Given the description of an element on the screen output the (x, y) to click on. 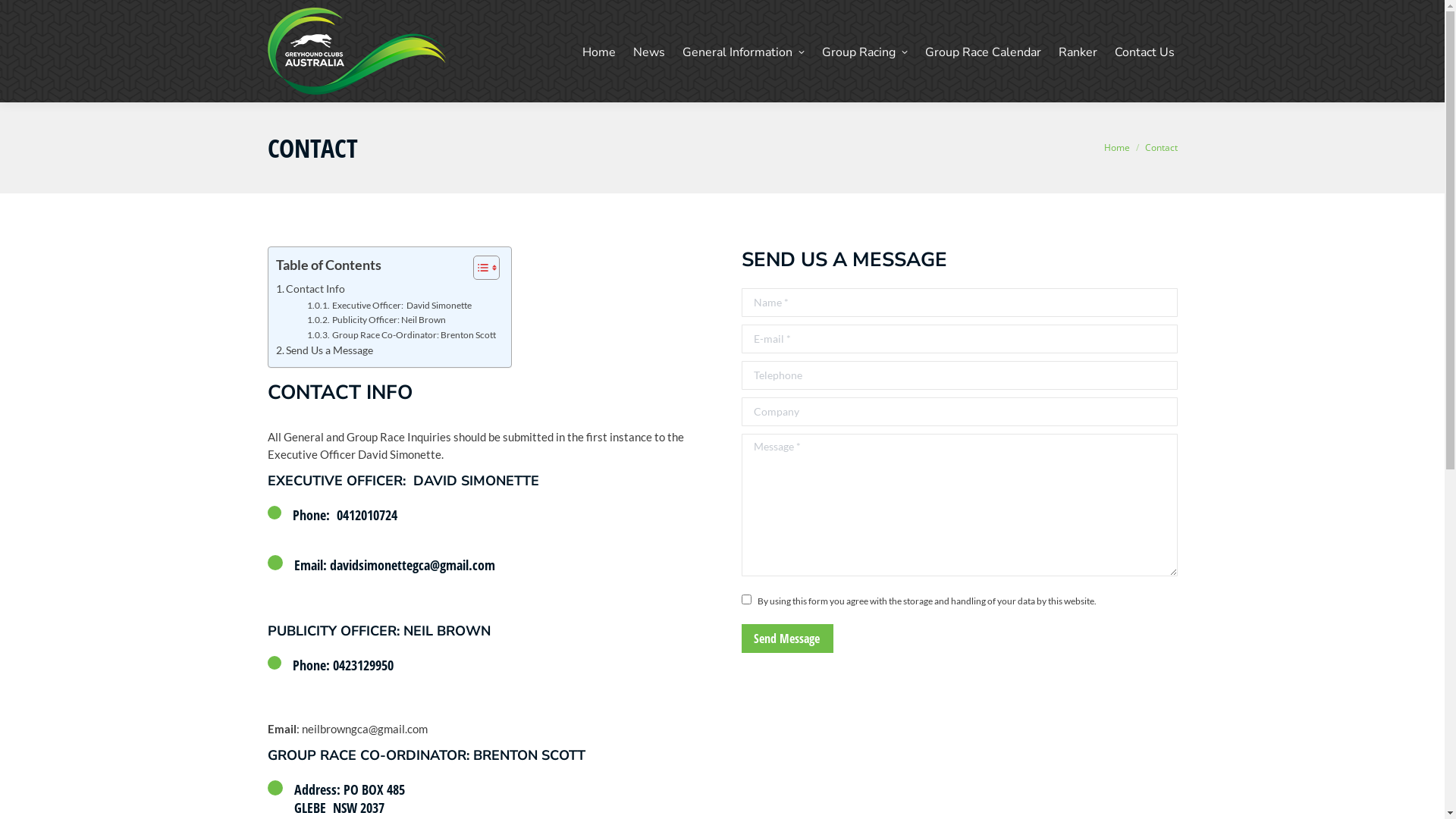
Contact Us Element type: text (1144, 51)
News Element type: text (648, 51)
Group Race Calendar Element type: text (983, 51)
Contact Info Element type: text (310, 289)
submit Element type: text (870, 639)
General Information Element type: text (743, 51)
Group Race Co-Ordinator: Brenton Scott Element type: text (401, 334)
Executive Officer:  David Simonette Element type: text (388, 305)
Home Element type: text (1116, 147)
Ranker Element type: text (1077, 51)
Send Message Element type: text (787, 638)
Home Element type: text (598, 51)
Send Us a Message Element type: text (324, 350)
Publicity Officer: Neil Brown Element type: text (376, 319)
Group Racing Element type: text (864, 51)
